Given the description of an element on the screen output the (x, y) to click on. 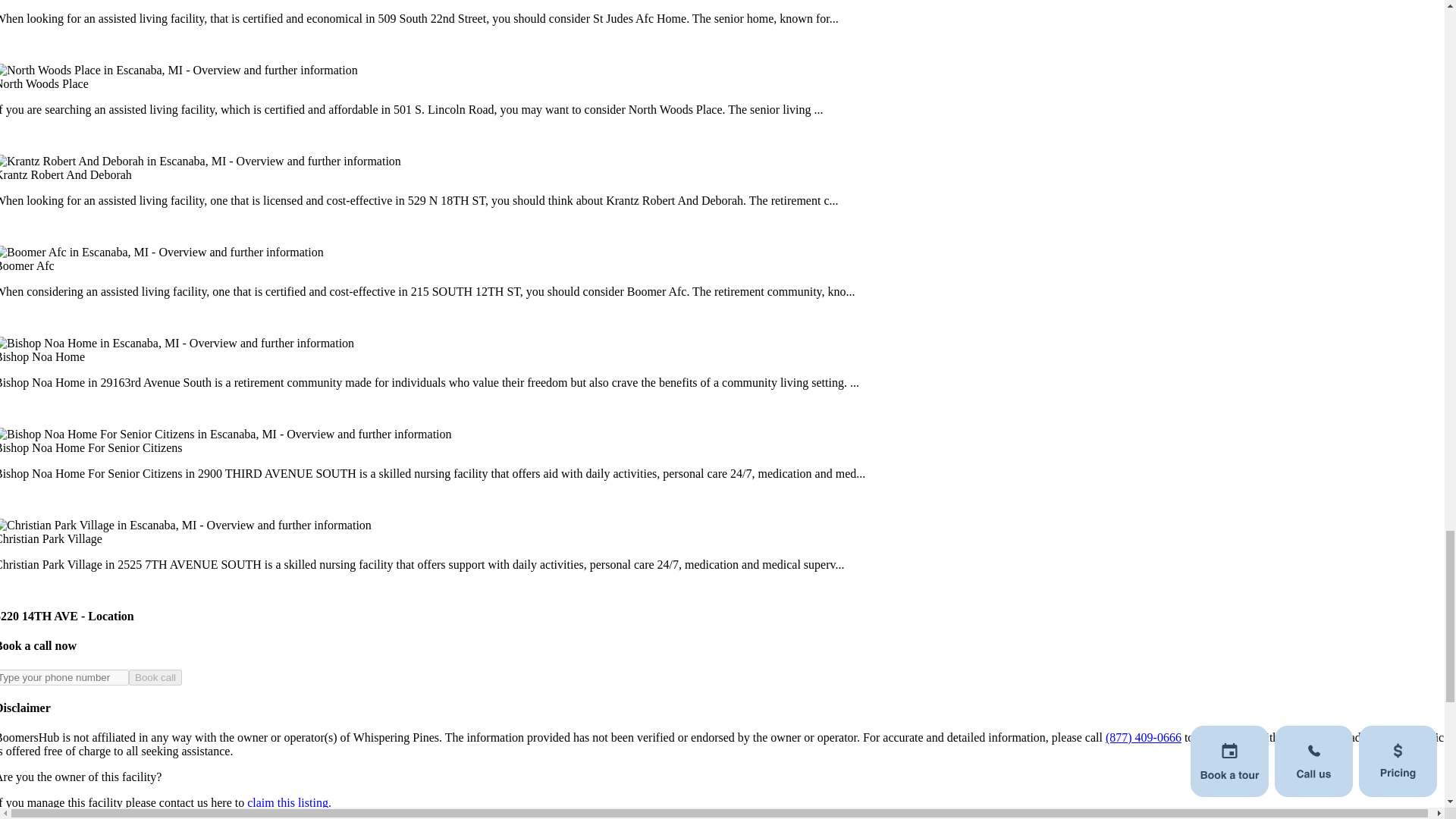
claim this listing. (289, 802)
Book call (155, 677)
